Given the description of an element on the screen output the (x, y) to click on. 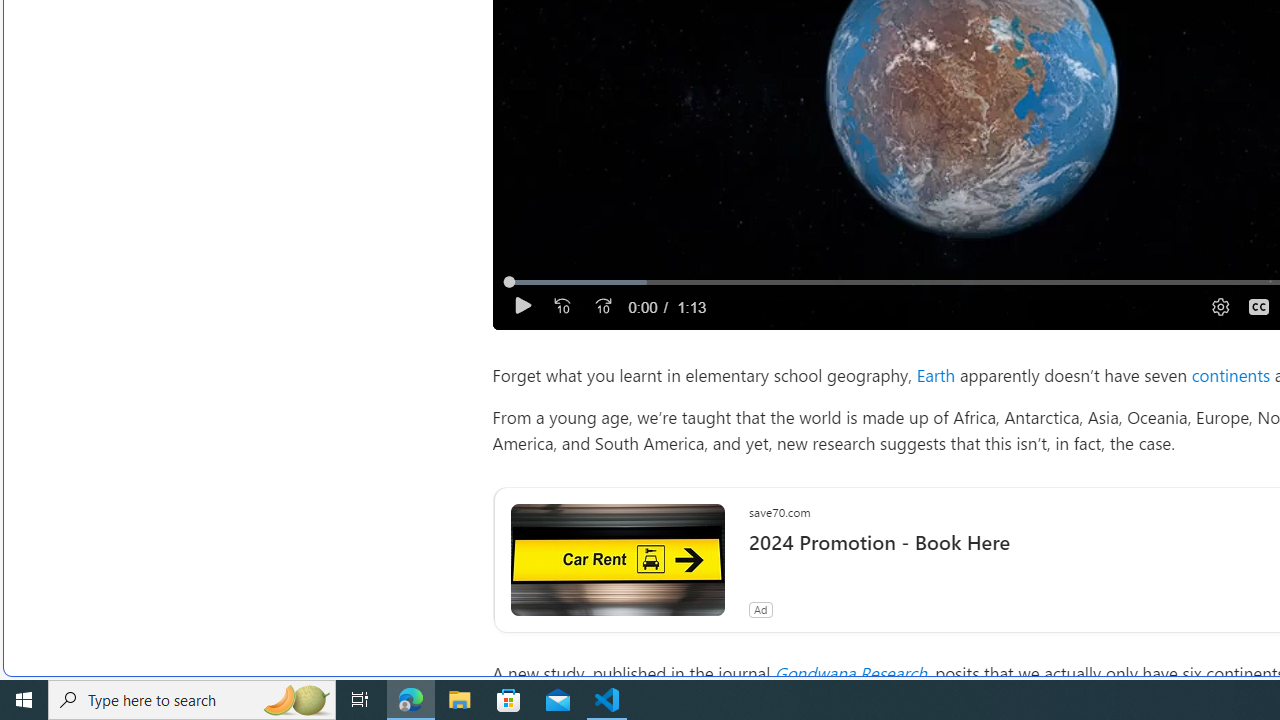
Earth (936, 373)
Quality Settings (1218, 306)
continents (1230, 373)
Play (521, 306)
Captions (1257, 306)
Gondwana Research (850, 672)
Seek Back (561, 306)
Seek Forward (602, 306)
